Given the description of an element on the screen output the (x, y) to click on. 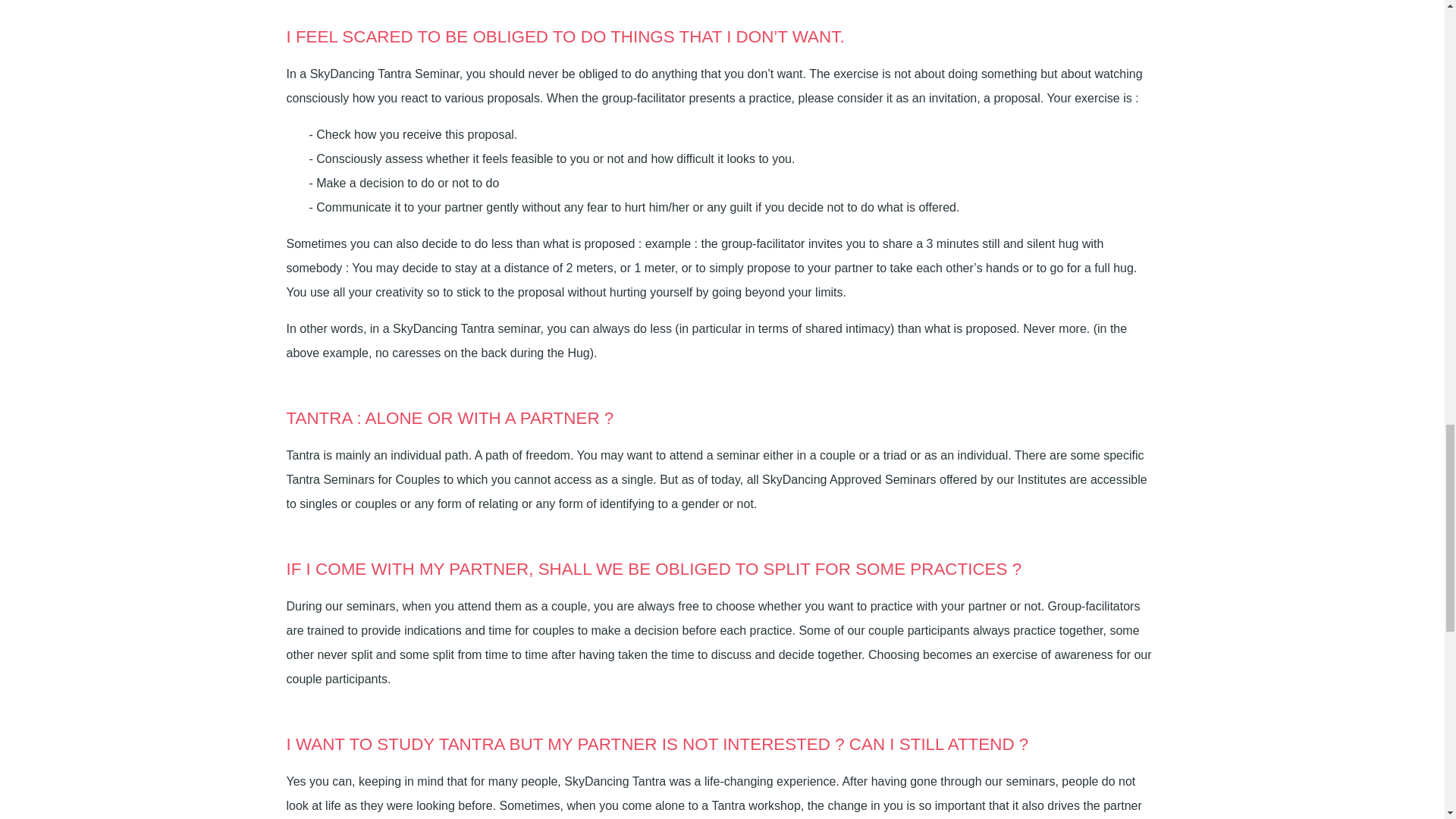
TANTRA : ALONE OR WITH A PARTNER ? (450, 417)
